Given the description of an element on the screen output the (x, y) to click on. 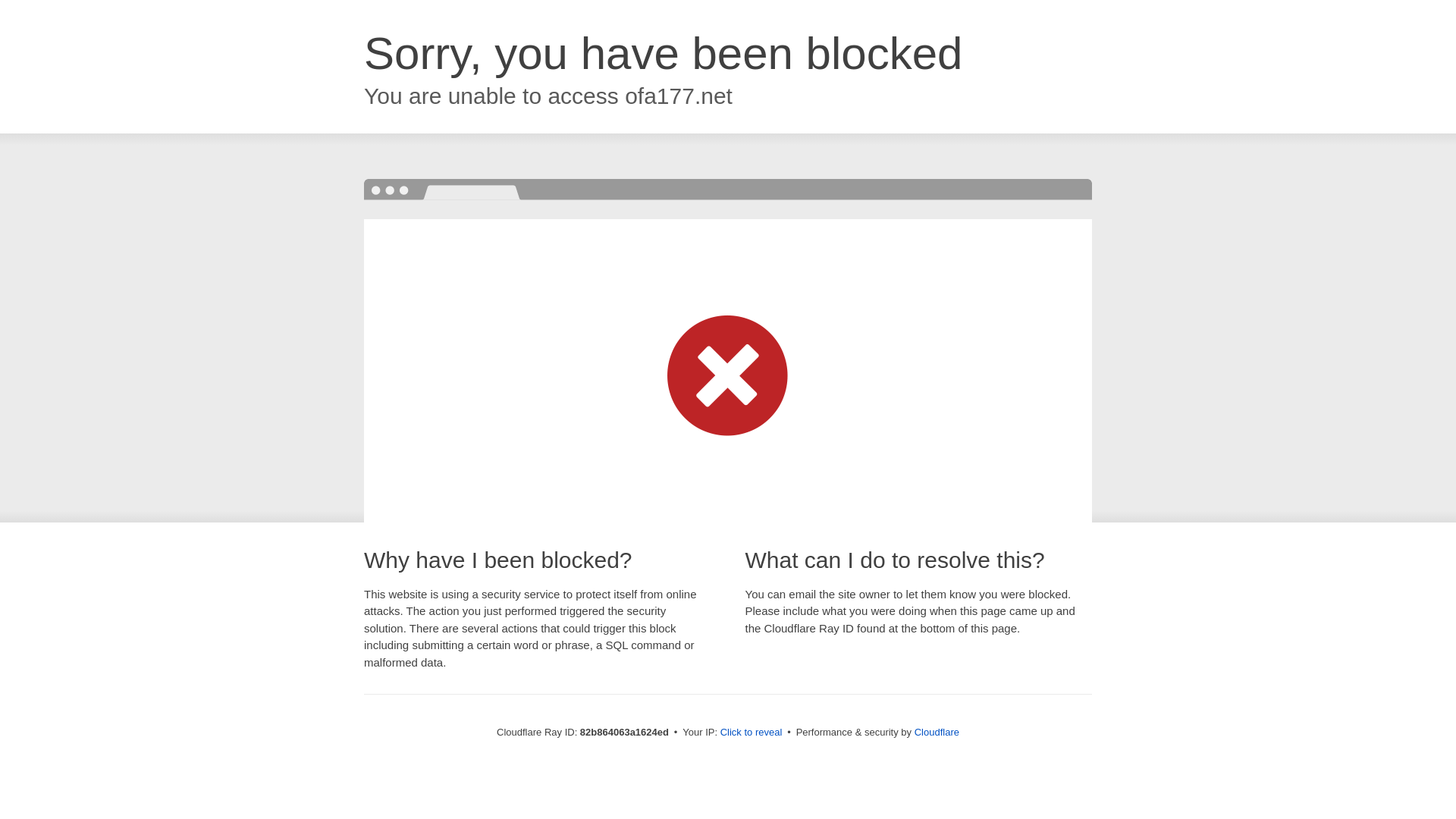
Click to reveal Element type: text (751, 732)
Cloudflare Element type: text (936, 731)
